Given the description of an element on the screen output the (x, y) to click on. 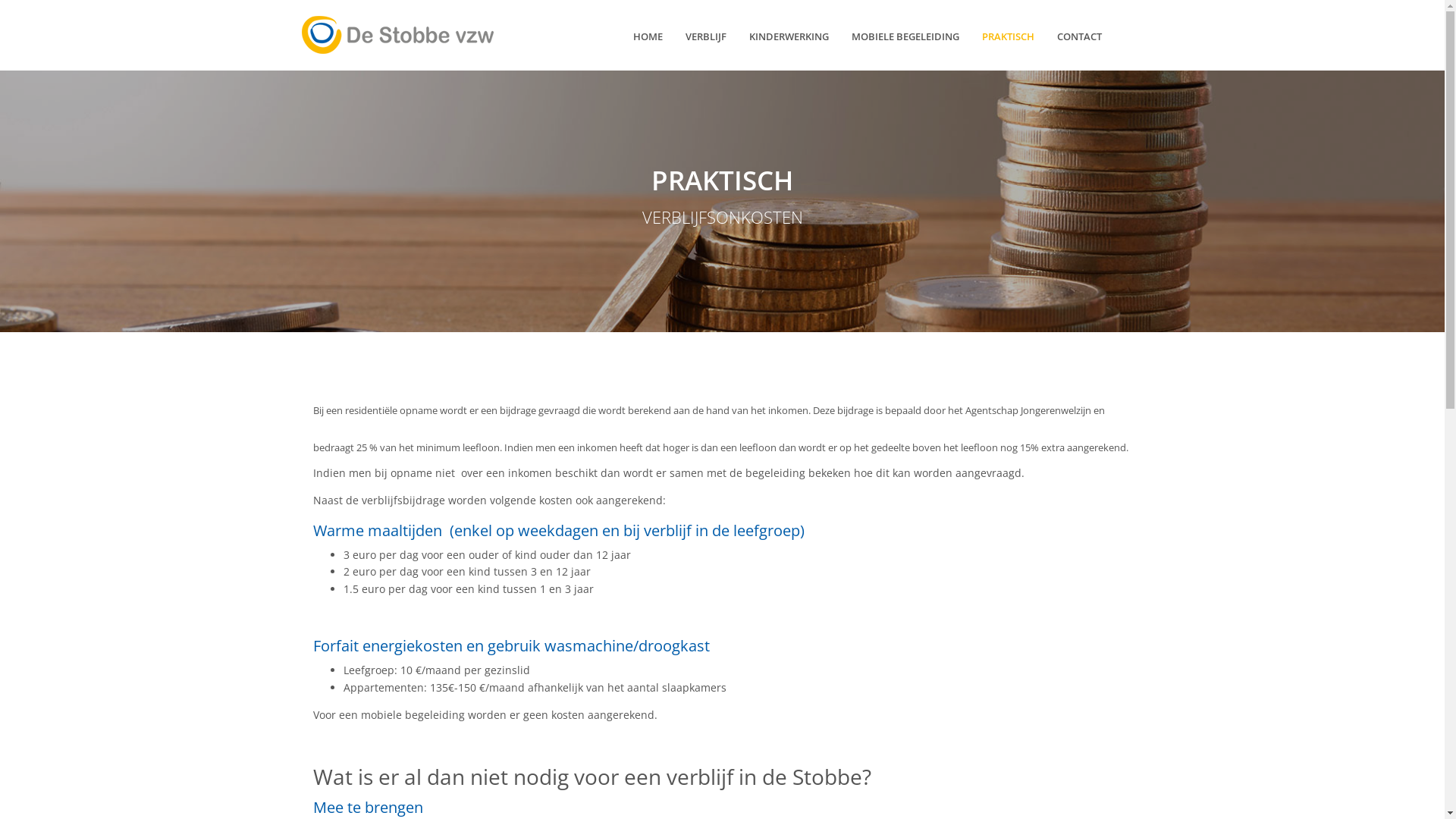
MOBIELE BEGELEIDING Element type: text (905, 36)
KINDERWERKING Element type: text (788, 36)
HOME Element type: text (647, 36)
VERBLIJF Element type: text (705, 36)
CIG De Stobbe Element type: hover (397, 34)
CONTACT Element type: text (1079, 36)
PRAKTISCH Element type: text (1008, 36)
